Given the description of an element on the screen output the (x, y) to click on. 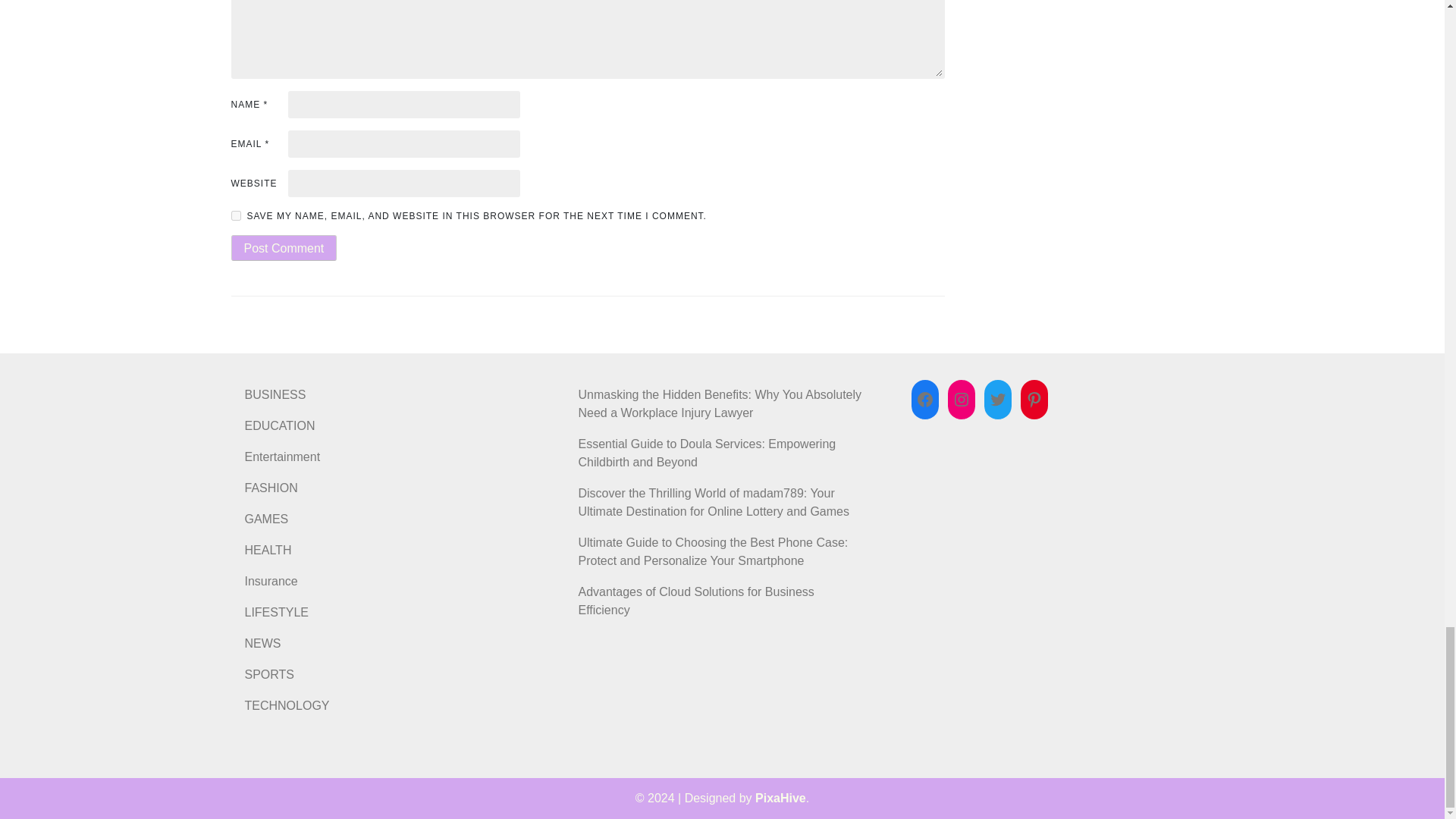
yes (235, 215)
Post Comment (283, 248)
